Given the description of an element on the screen output the (x, y) to click on. 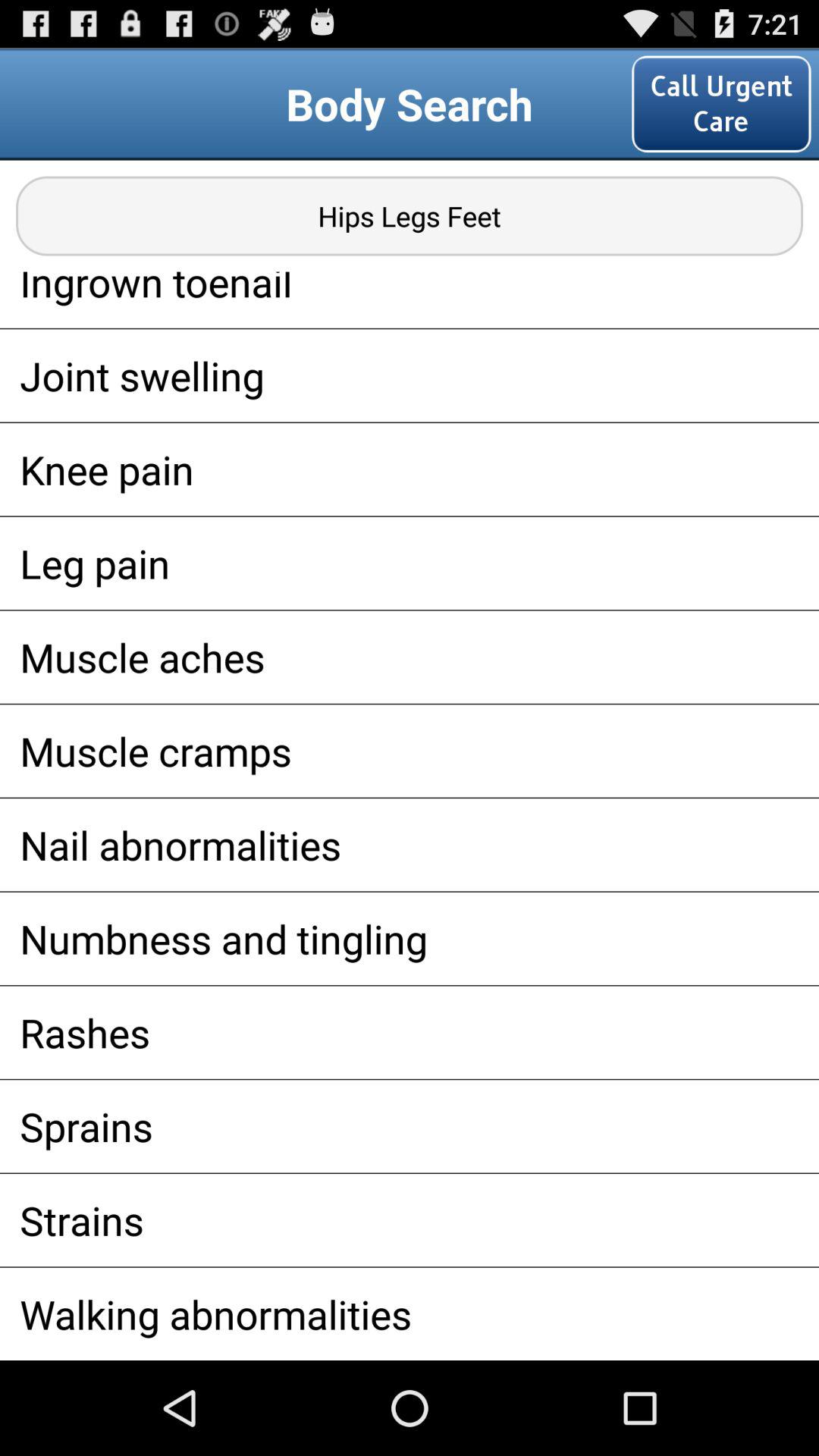
select the item above muscle cramps (409, 656)
